Given the description of an element on the screen output the (x, y) to click on. 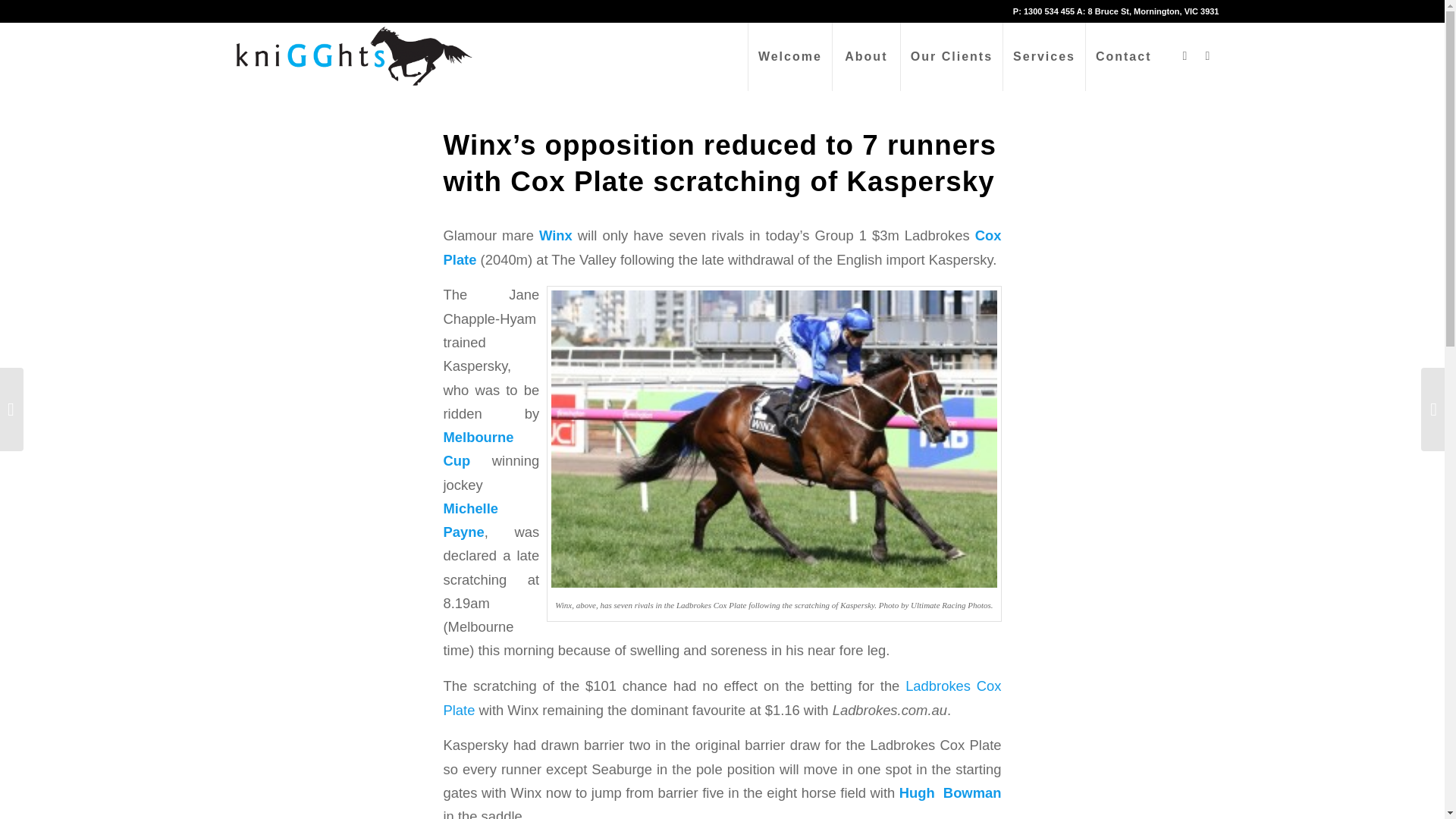
Twitter (1208, 56)
Contact (1122, 56)
Services (1043, 56)
Facebook (1184, 56)
Welcome (789, 56)
Ladbrokes Cox Plate (721, 697)
Our Clients (951, 56)
About (865, 56)
